Given the description of an element on the screen output the (x, y) to click on. 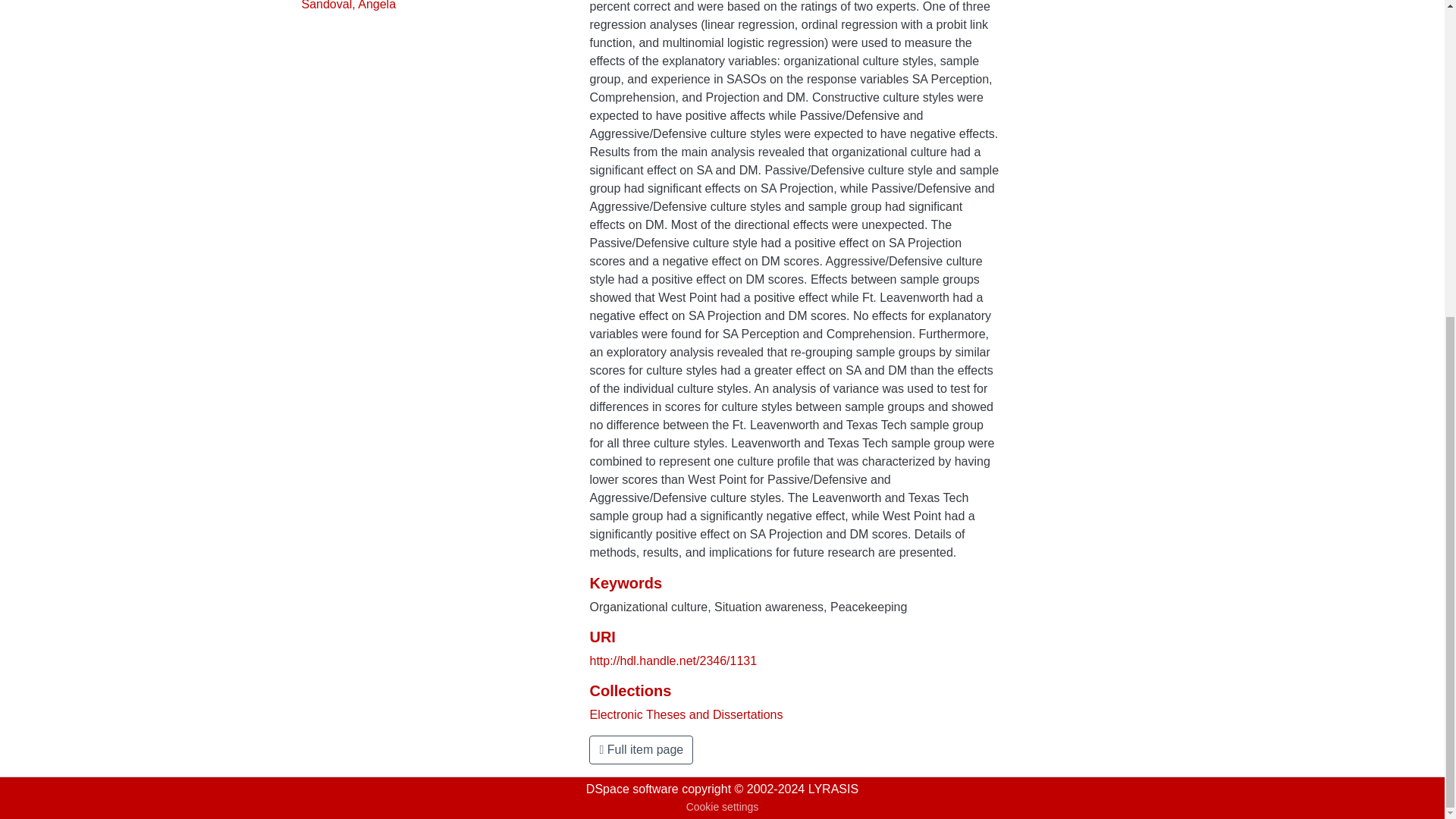
Electronic Theses and Dissertations (686, 714)
Cookie settings (722, 806)
LYRASIS (833, 788)
Sandoval, Angela (348, 5)
Full item page (641, 749)
DSpace software (632, 788)
